Given the description of an element on the screen output the (x, y) to click on. 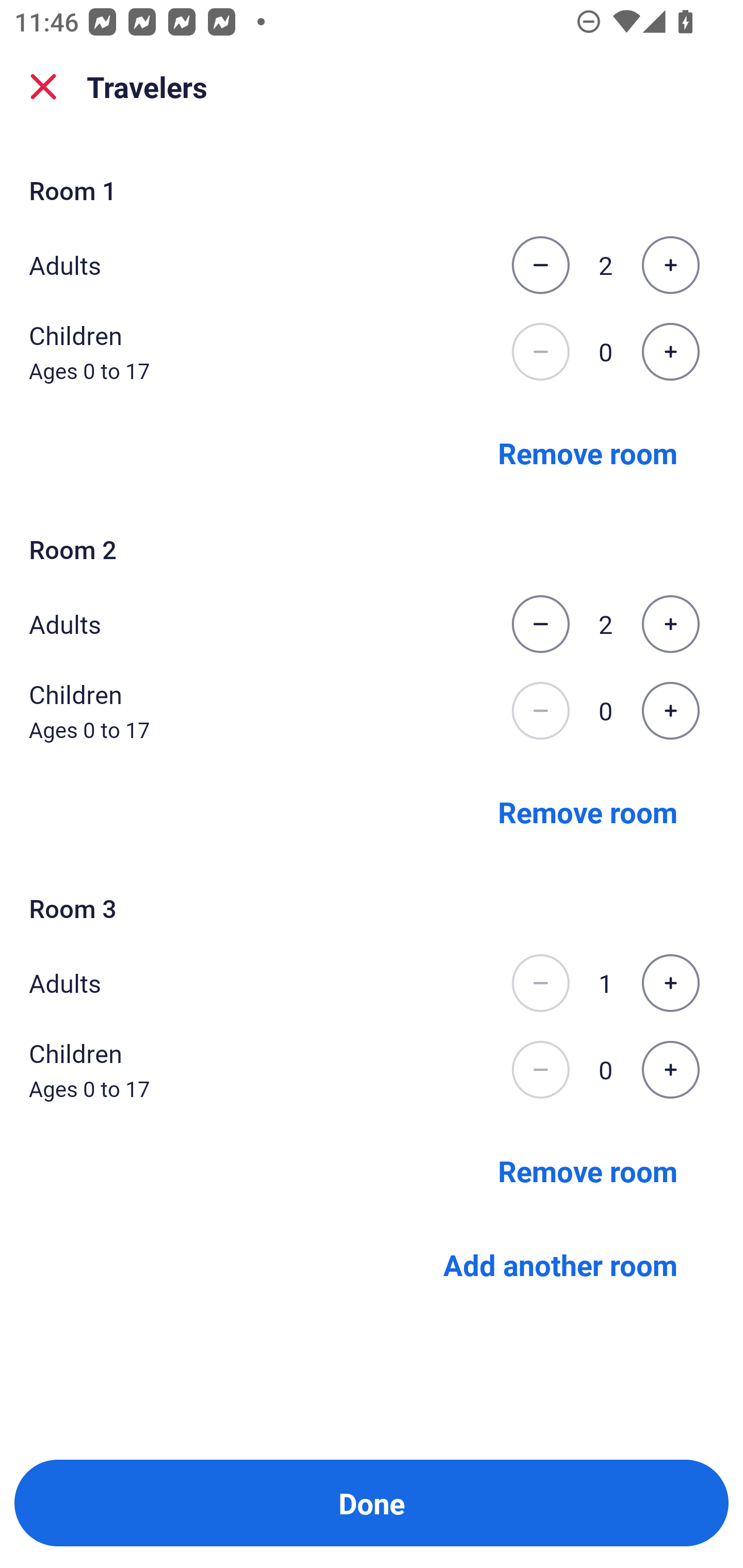
close (43, 86)
Decrease the number of adults (540, 264)
Increase the number of adults (670, 264)
Decrease the number of children (540, 351)
Increase the number of children (670, 351)
Remove room (588, 452)
Decrease the number of adults (540, 623)
Increase the number of adults (670, 623)
Decrease the number of children (540, 710)
Increase the number of children (670, 710)
Remove room (588, 811)
Decrease the number of adults (540, 983)
Increase the number of adults (670, 983)
Decrease the number of children (540, 1070)
Increase the number of children (670, 1070)
Remove room (588, 1170)
Add another room (560, 1264)
Done (371, 1502)
